Given the description of an element on the screen output the (x, y) to click on. 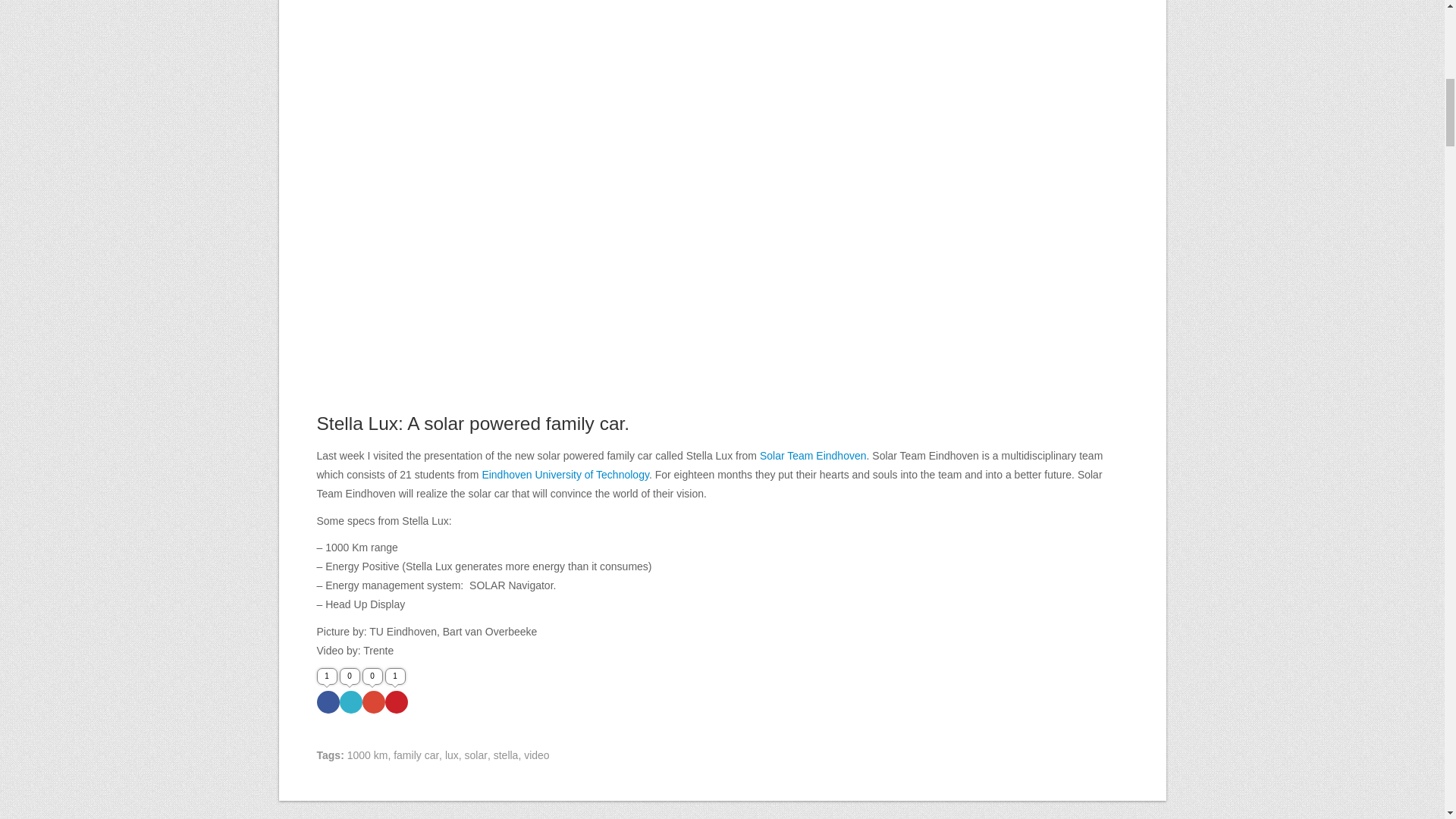
0 (373, 702)
solar (475, 755)
1 (328, 702)
1 (396, 702)
video (536, 755)
1000 km (367, 755)
Solar Team Eindhoven (813, 455)
Eindhoven University of Technology (565, 474)
Eindhoven University of Technology (565, 474)
stella (505, 755)
